Given the description of an element on the screen output the (x, y) to click on. 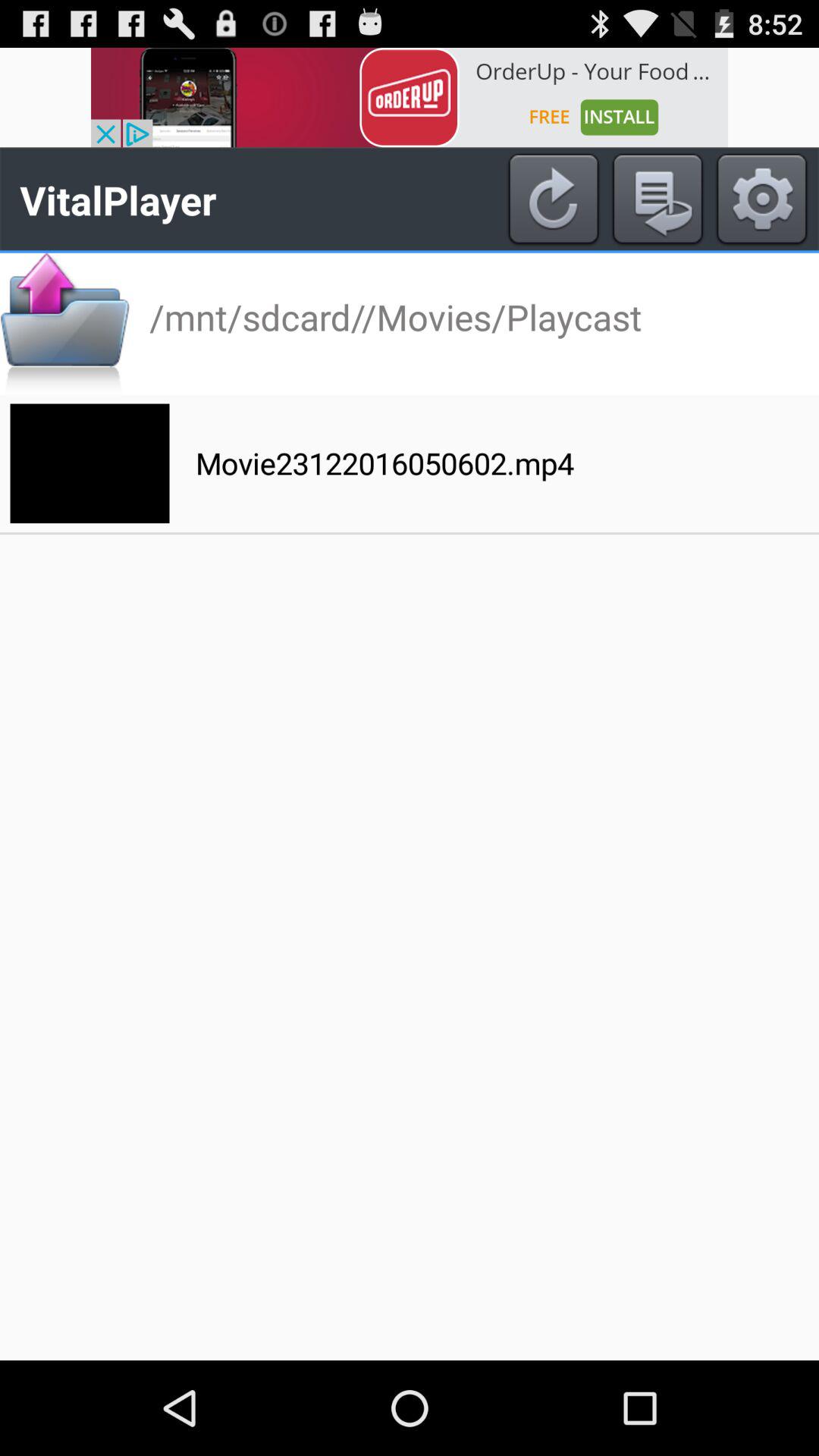
open file manager (64, 323)
